Given the description of an element on the screen output the (x, y) to click on. 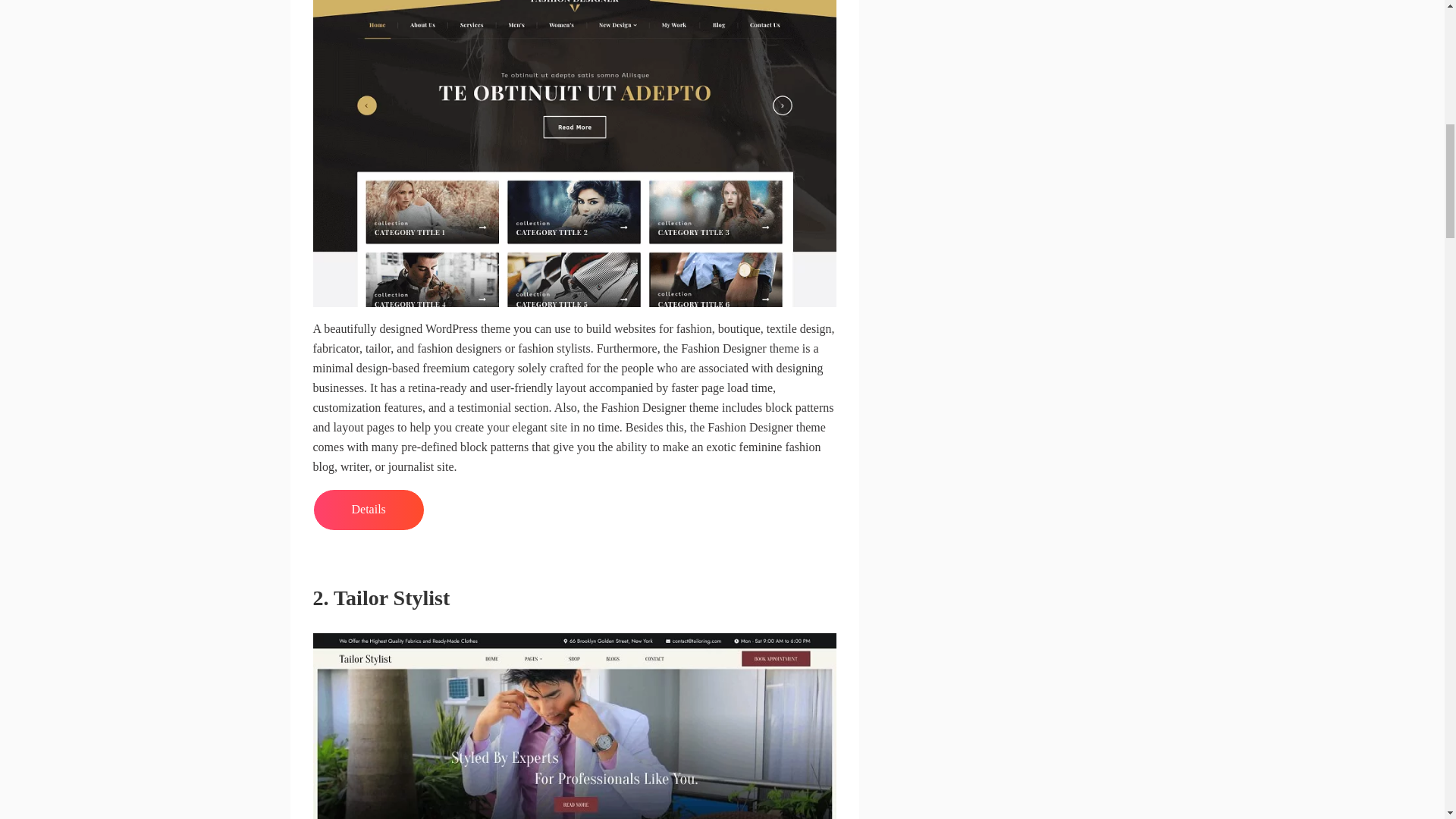
Details (368, 508)
